Given the description of an element on the screen output the (x, y) to click on. 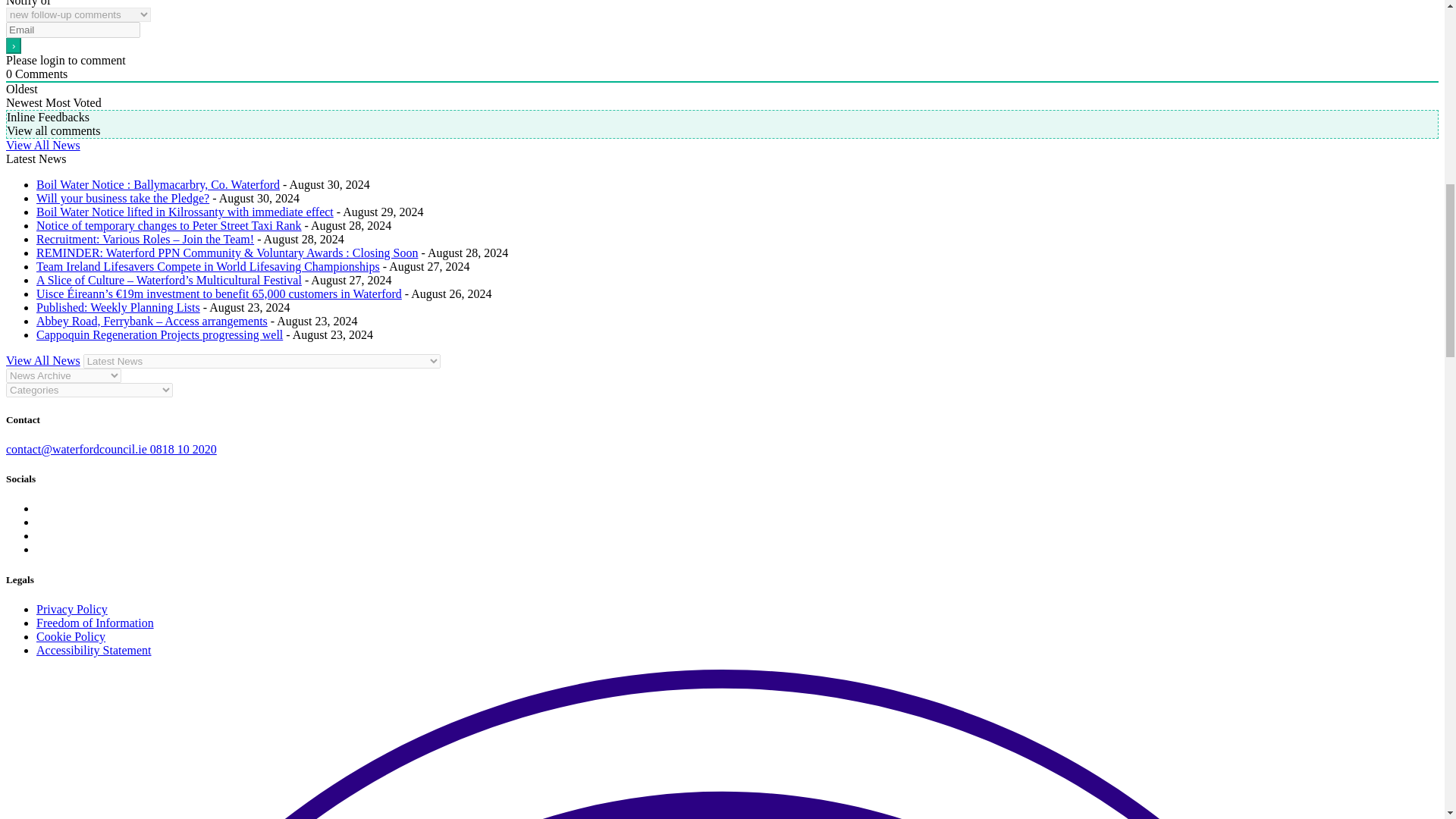
Boil Water Notice : Ballymacarbry, Co. Waterford (157, 184)
Published: Weekly Planning Lists (118, 307)
Will your business take the Pledge? (122, 197)
Cookie Policy (70, 635)
Notice of temporary changes to Peter Street Taxi Rank (168, 225)
View All News (42, 144)
Accessibility Statement (93, 649)
Cappoquin Regeneration Projects progressing well (159, 334)
